Given the description of an element on the screen output the (x, y) to click on. 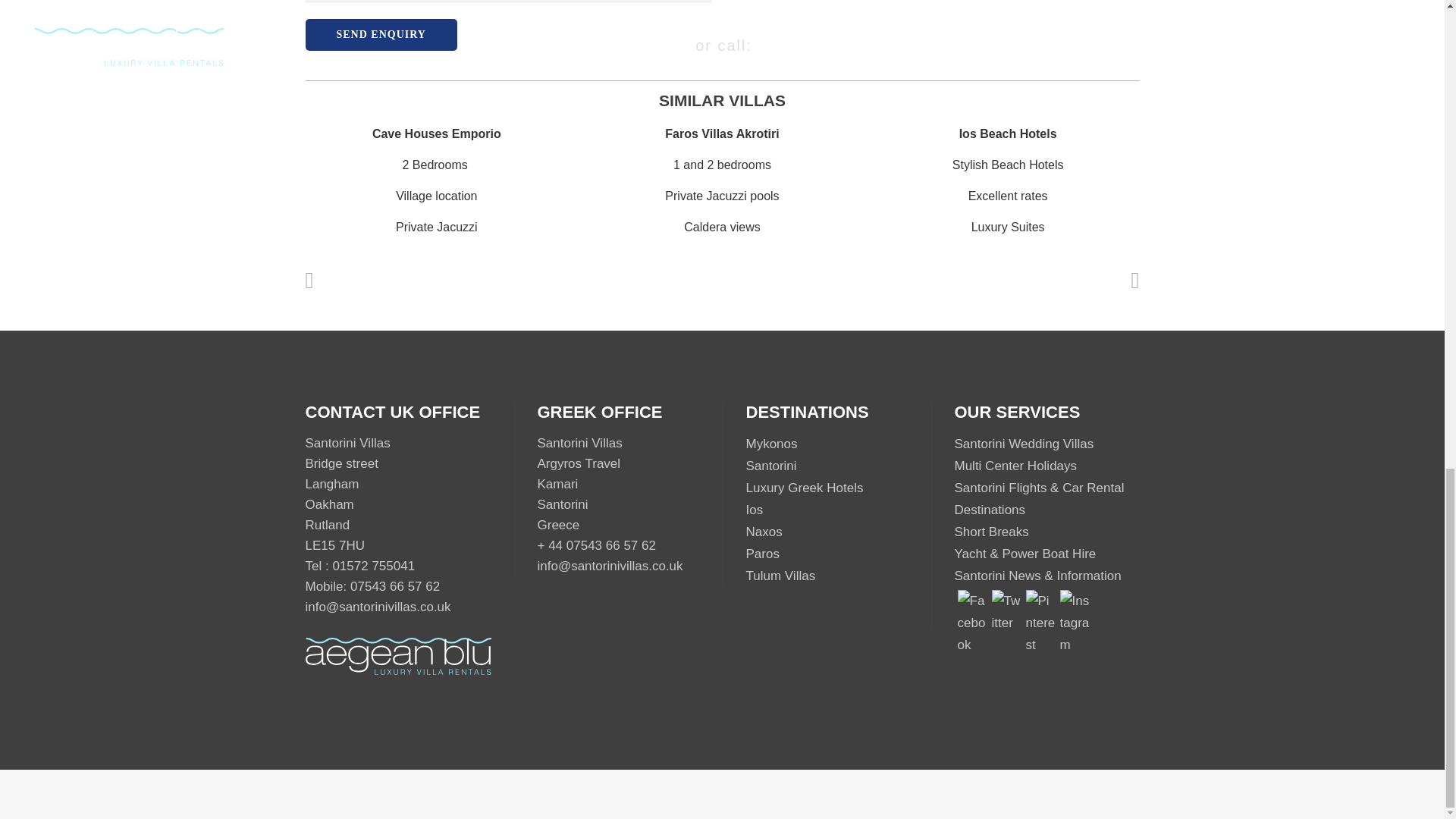
Paros Luxury Hotels (761, 554)
Tulum Villas (780, 575)
Naxos Luxury Hotels (764, 531)
Luxury Greek Hotels (804, 487)
Ios Luxury Hotels (753, 509)
Send Enquiry (380, 34)
Villas in Santorini (770, 465)
Villas in Mykonos (771, 443)
